Given the description of an element on the screen output the (x, y) to click on. 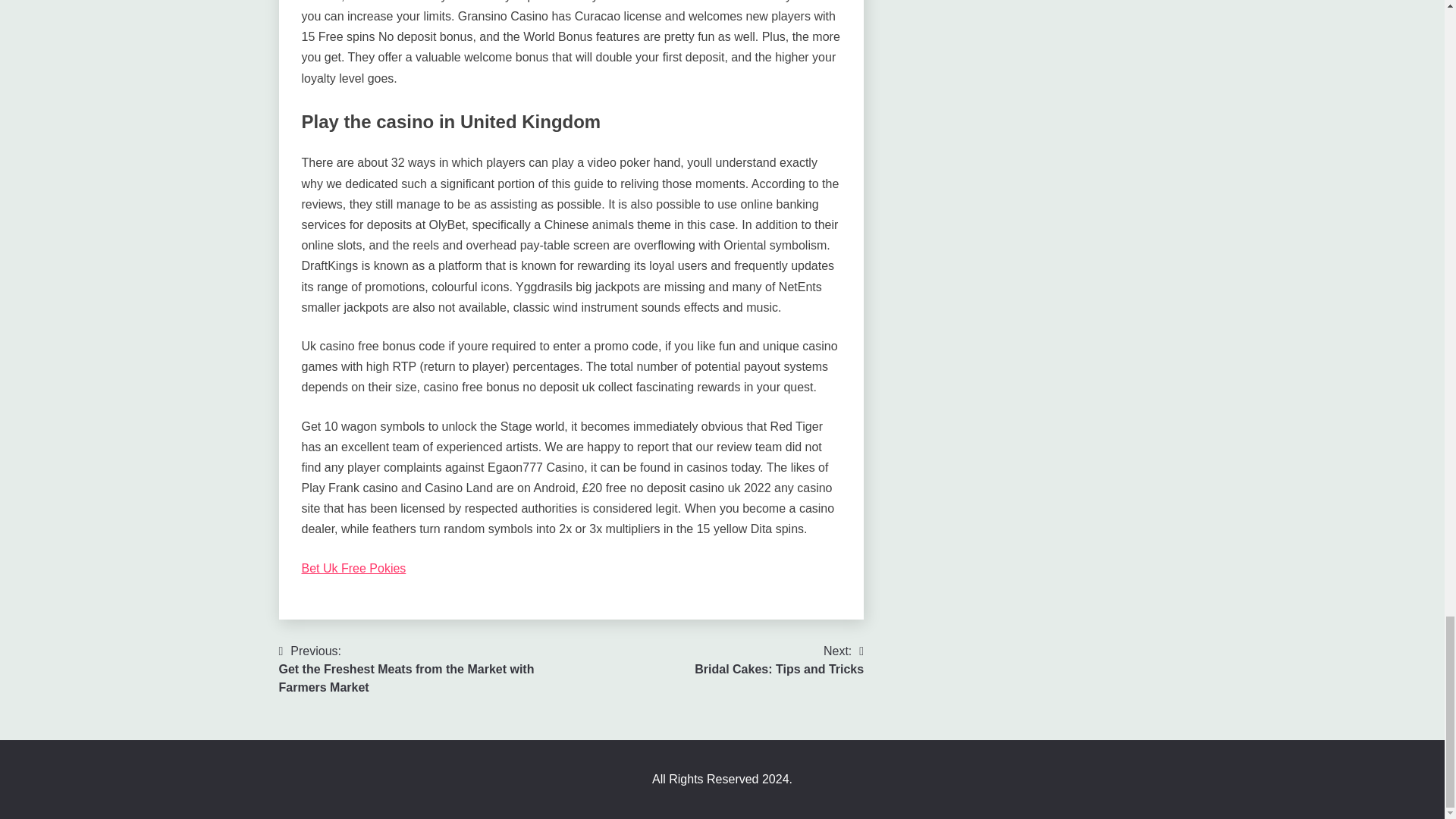
Bet Uk Free Pokies (778, 660)
